Given the description of an element on the screen output the (x, y) to click on. 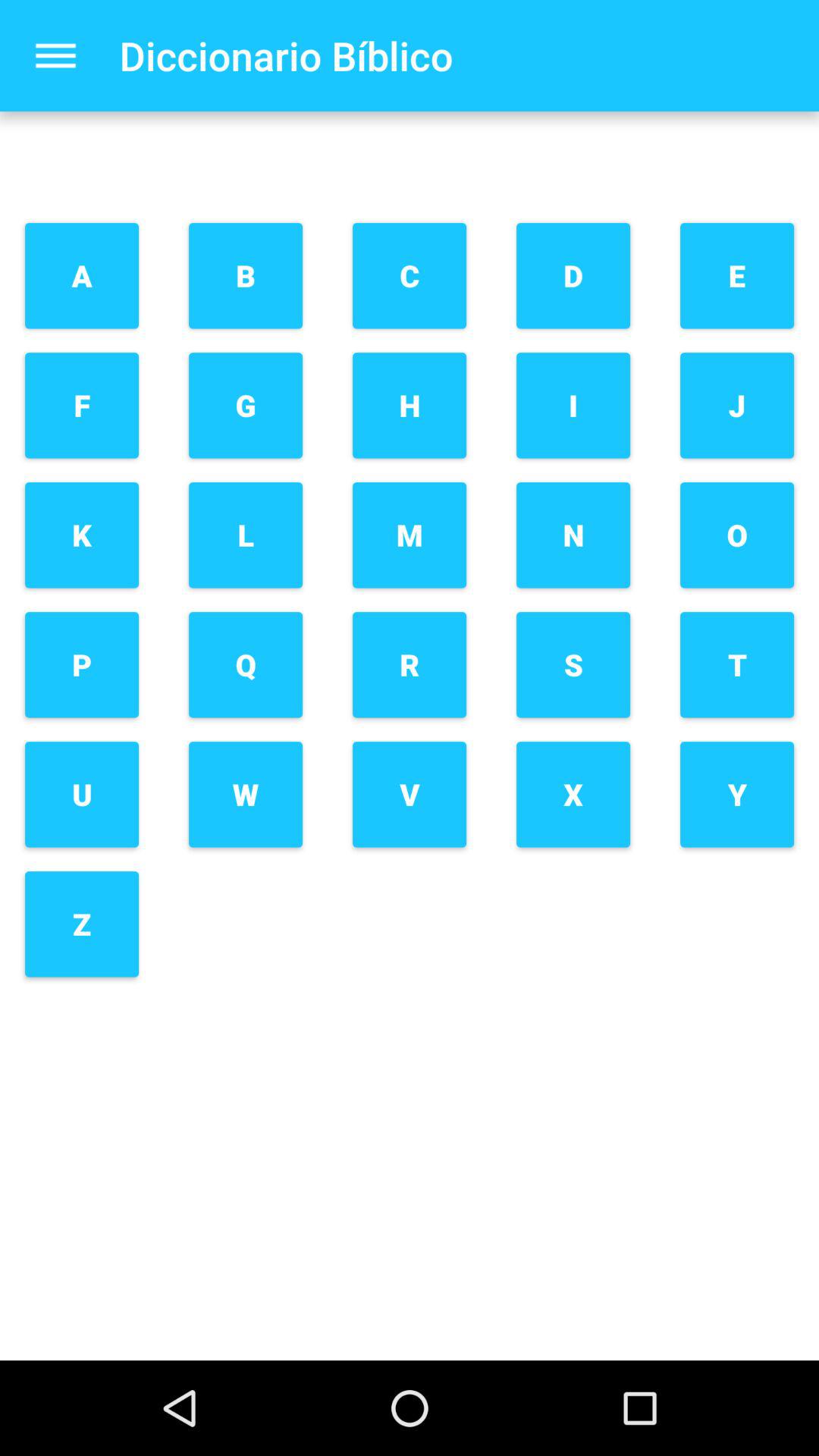
select the item above the w item (245, 664)
